Given the description of an element on the screen output the (x, y) to click on. 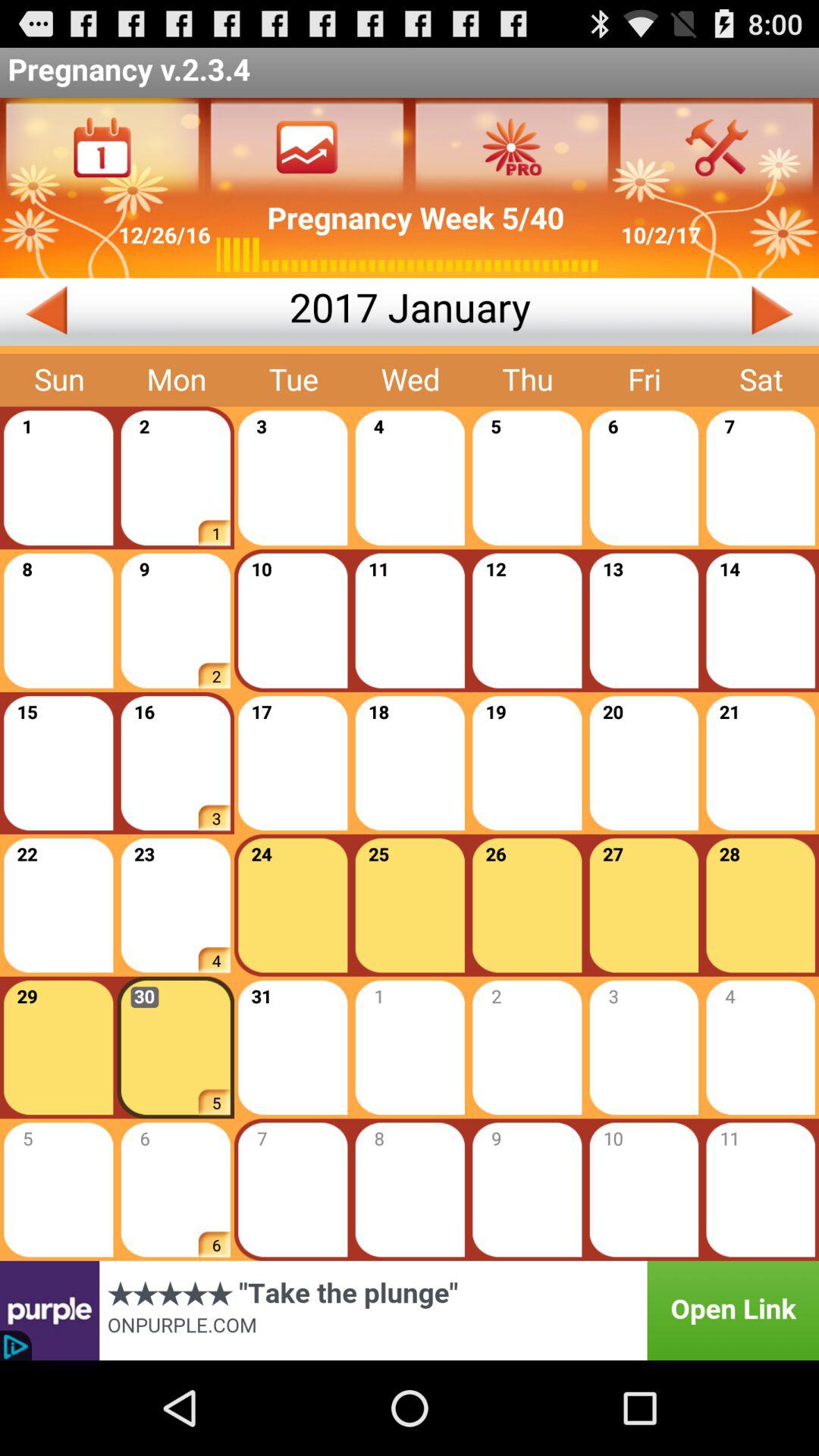
go to next month (674, 311)
